Given the description of an element on the screen output the (x, y) to click on. 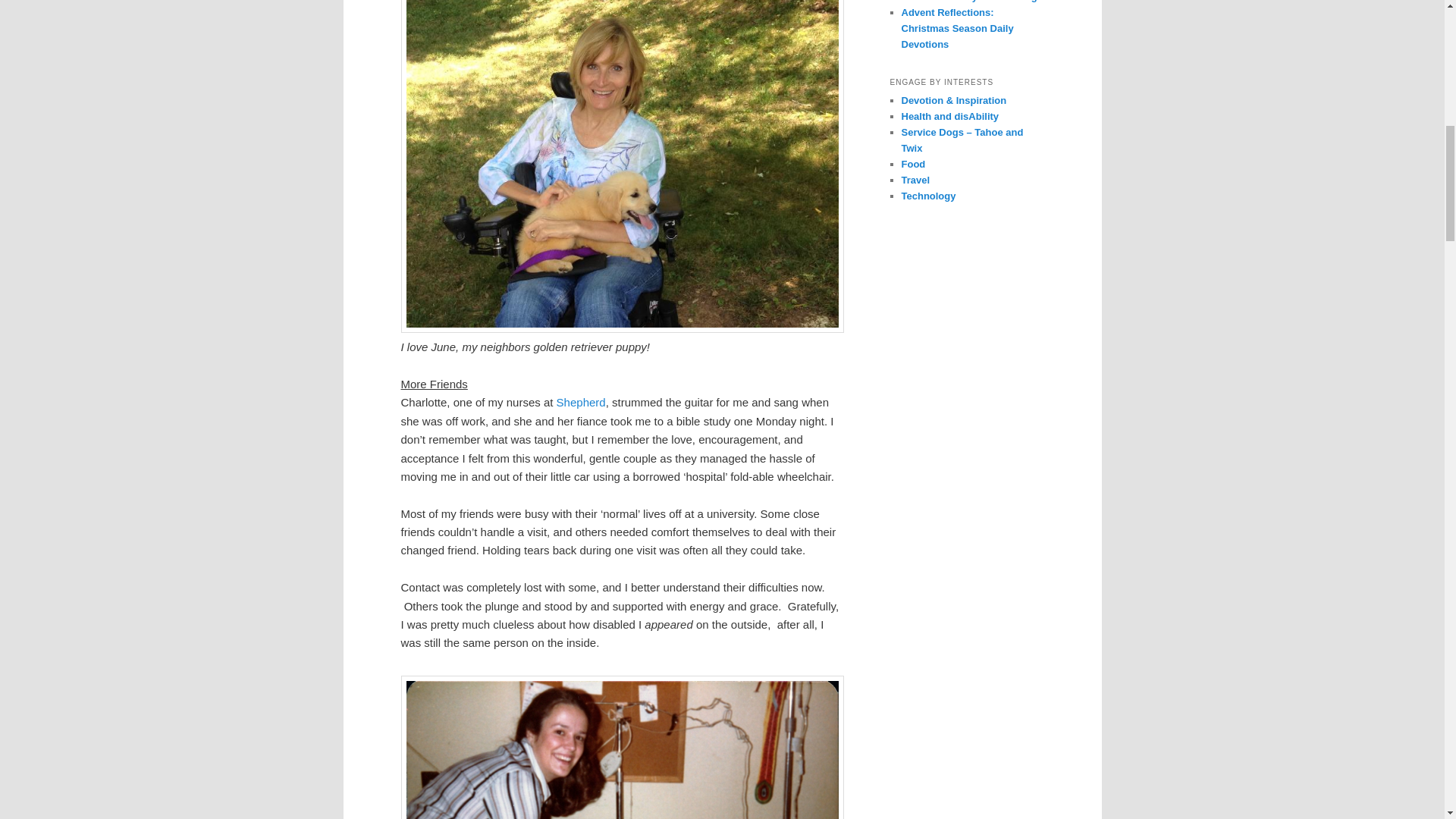
Shepherd (580, 401)
mel visits me at shepherd (621, 747)
